Given the description of an element on the screen output the (x, y) to click on. 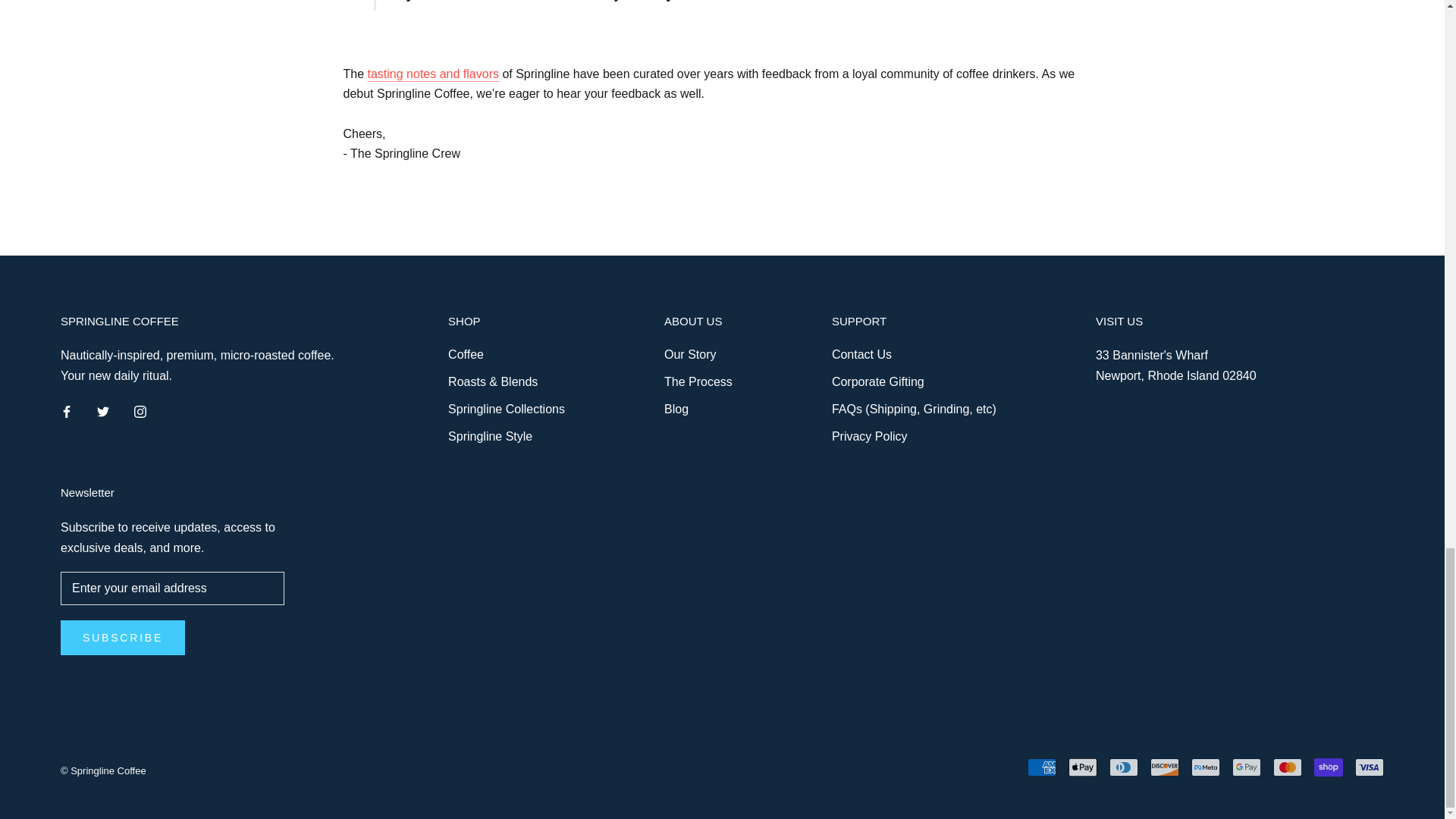
Visa (1369, 767)
Meta Pay (1205, 767)
Shop Pay (1328, 767)
Diners Club (1123, 767)
Google Pay (1245, 767)
American Express (1042, 767)
Mastercard (1286, 767)
tasting notes and flavors (433, 73)
Apple Pay (1082, 767)
Discover (1164, 767)
